Given the description of an element on the screen output the (x, y) to click on. 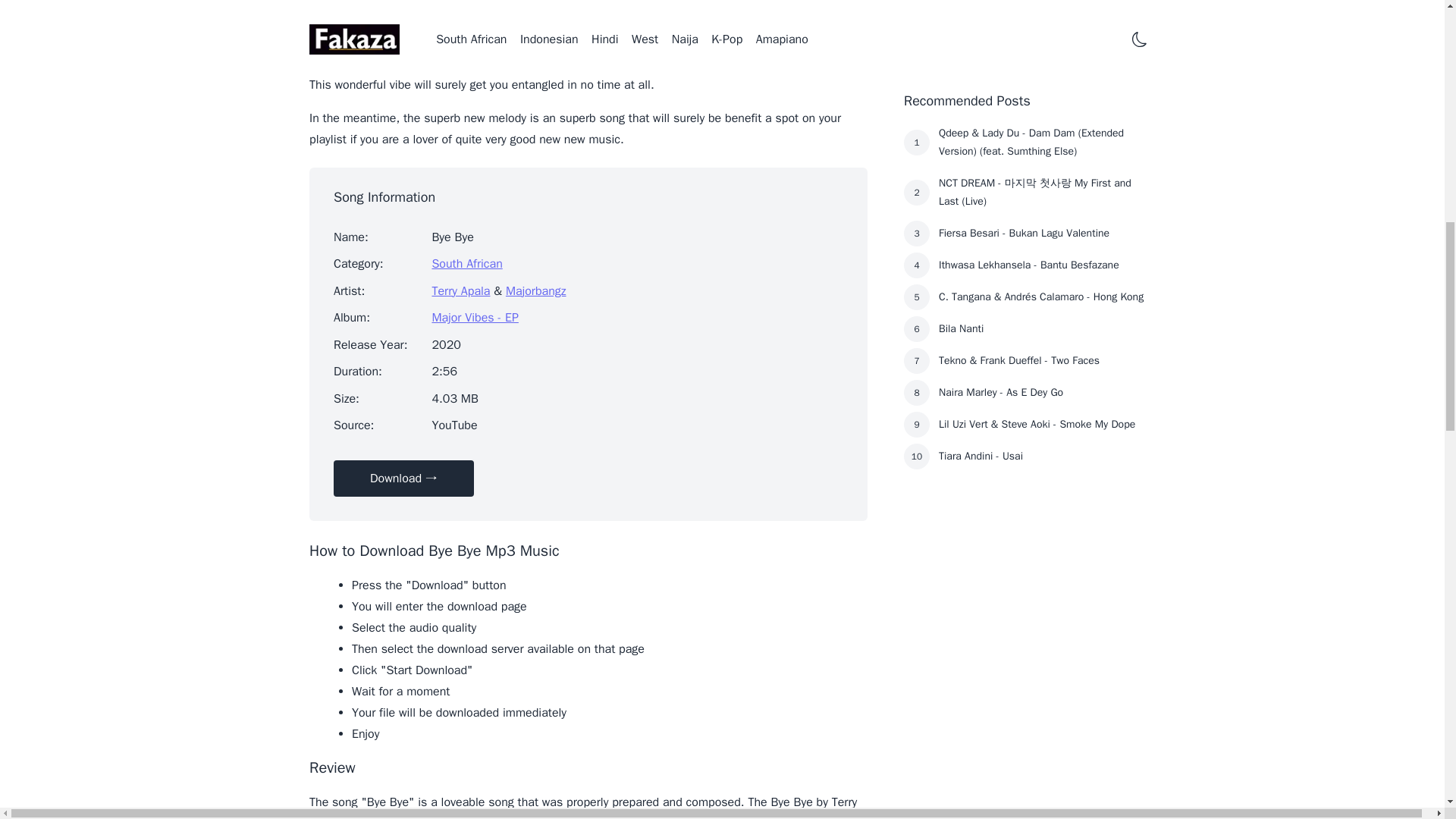
Majorbangz (535, 290)
Major Vibes - EP (474, 317)
South African (466, 263)
Terry Apala (459, 290)
